Given the description of an element on the screen output the (x, y) to click on. 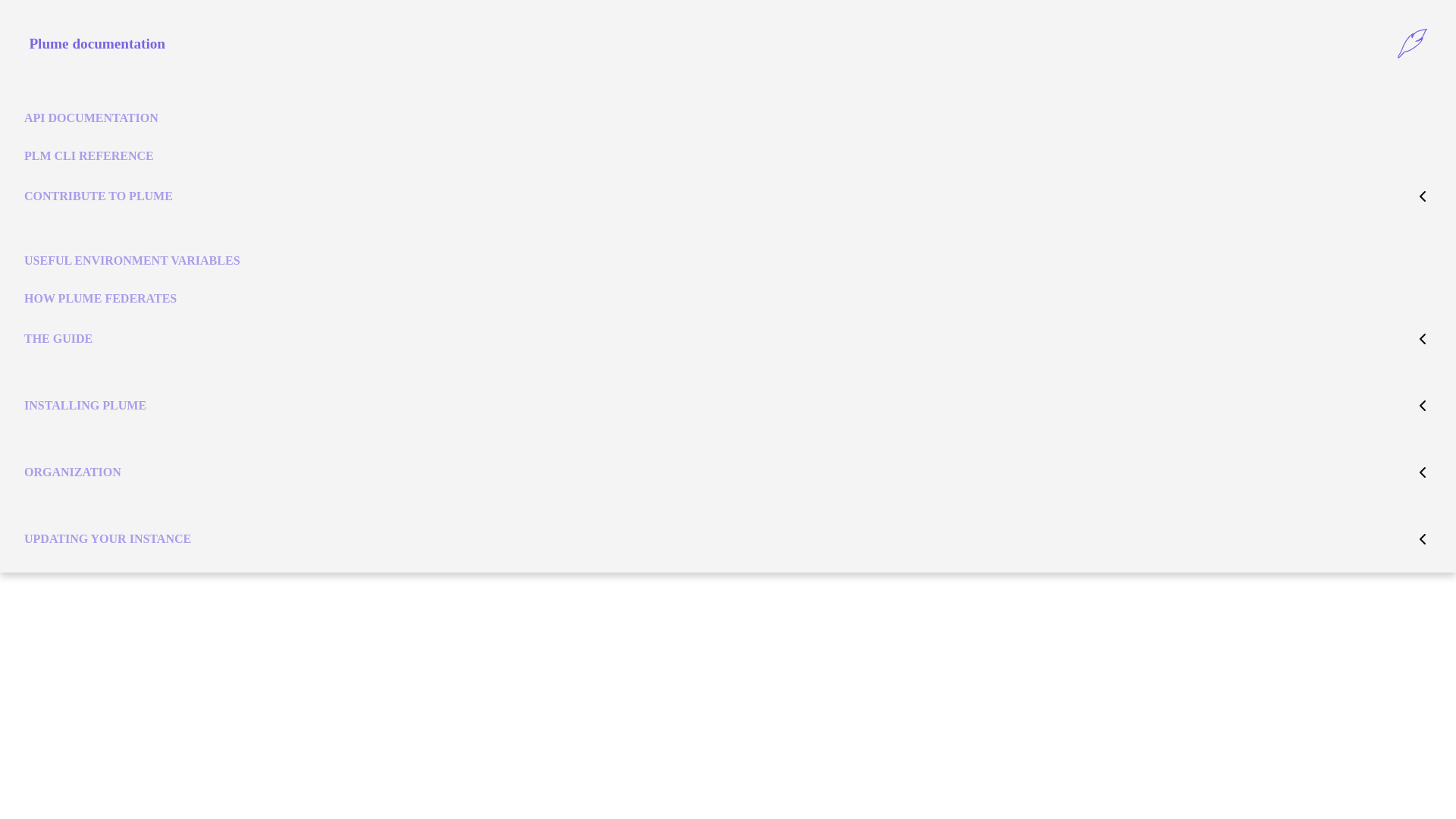
CONTRIBUTE TO PLUME (98, 196)
